Given the description of an element on the screen output the (x, y) to click on. 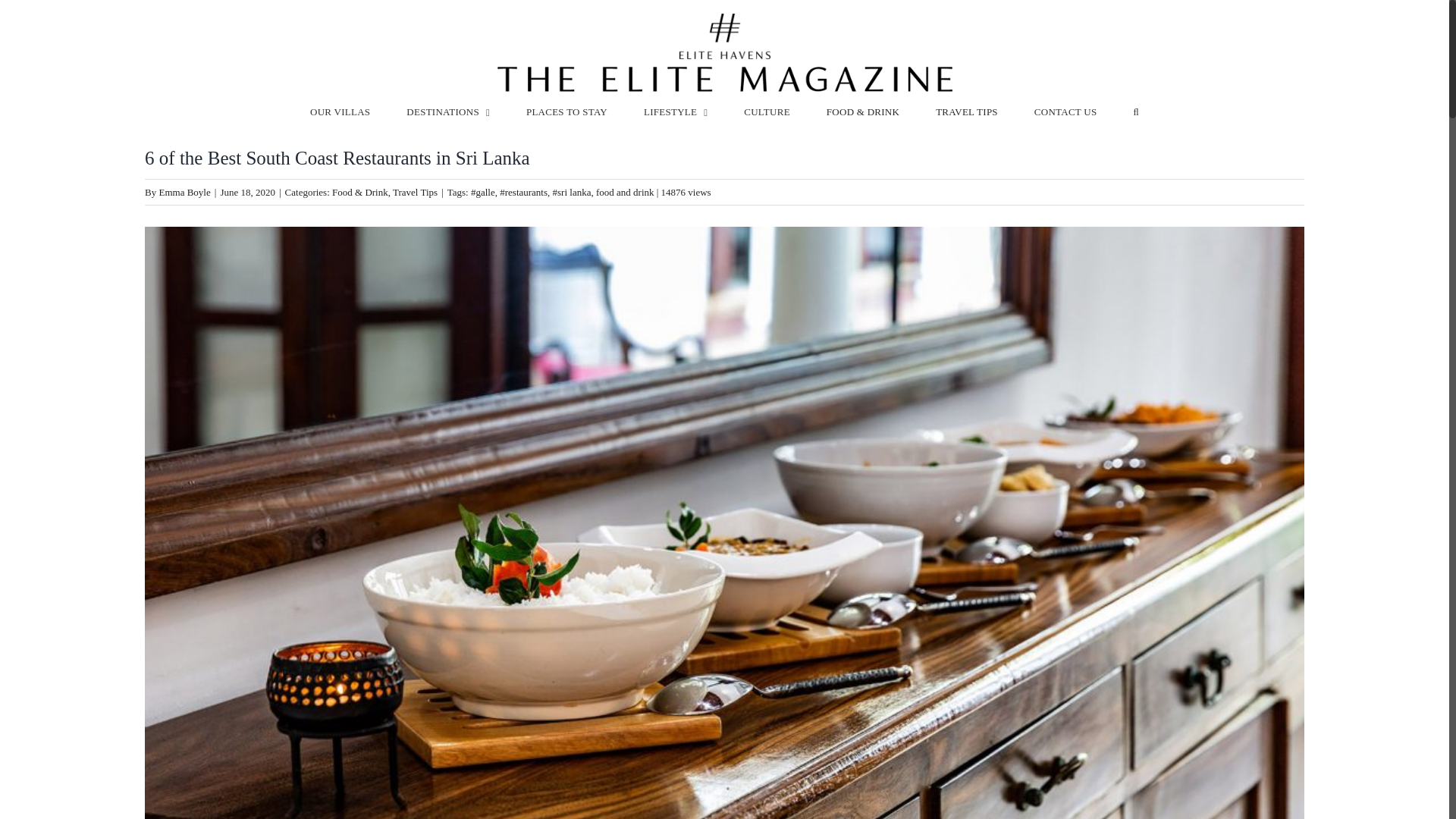
CONTACT US (1065, 111)
CULTURE (767, 111)
TRAVEL TIPS (966, 111)
LIFESTYLE (675, 111)
Posts by Emma Boyle (184, 192)
PLACES TO STAY (566, 111)
DESTINATIONS (447, 111)
OUR VILLAS (339, 111)
